Given the description of an element on the screen output the (x, y) to click on. 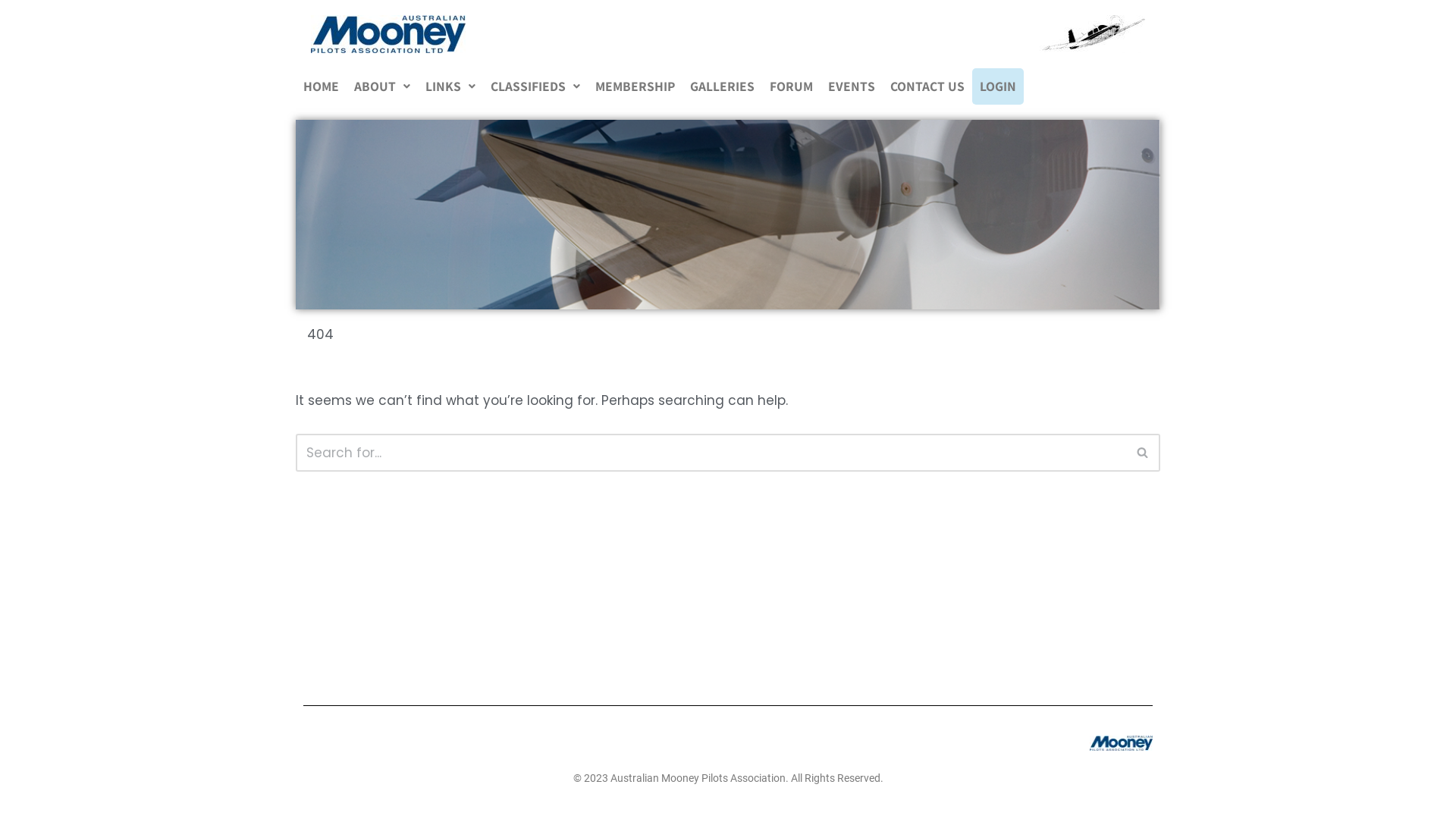
Skip to content Element type: text (11, 31)
ABOUT Element type: text (381, 86)
MEMBERSHIP Element type: text (634, 86)
LINKS Element type: text (450, 86)
FORUM Element type: text (791, 86)
LOGIN Element type: text (997, 86)
HOME Element type: text (320, 86)
CONTACT US Element type: text (927, 86)
GALLERIES Element type: text (722, 86)
EVENTS Element type: text (851, 86)
CLASSIFIEDS Element type: text (535, 86)
Australia Mooney Pilots Association Element type: hover (1089, 34)
Australia Mooney Pilots Association Element type: hover (387, 34)
